Given the description of an element on the screen output the (x, y) to click on. 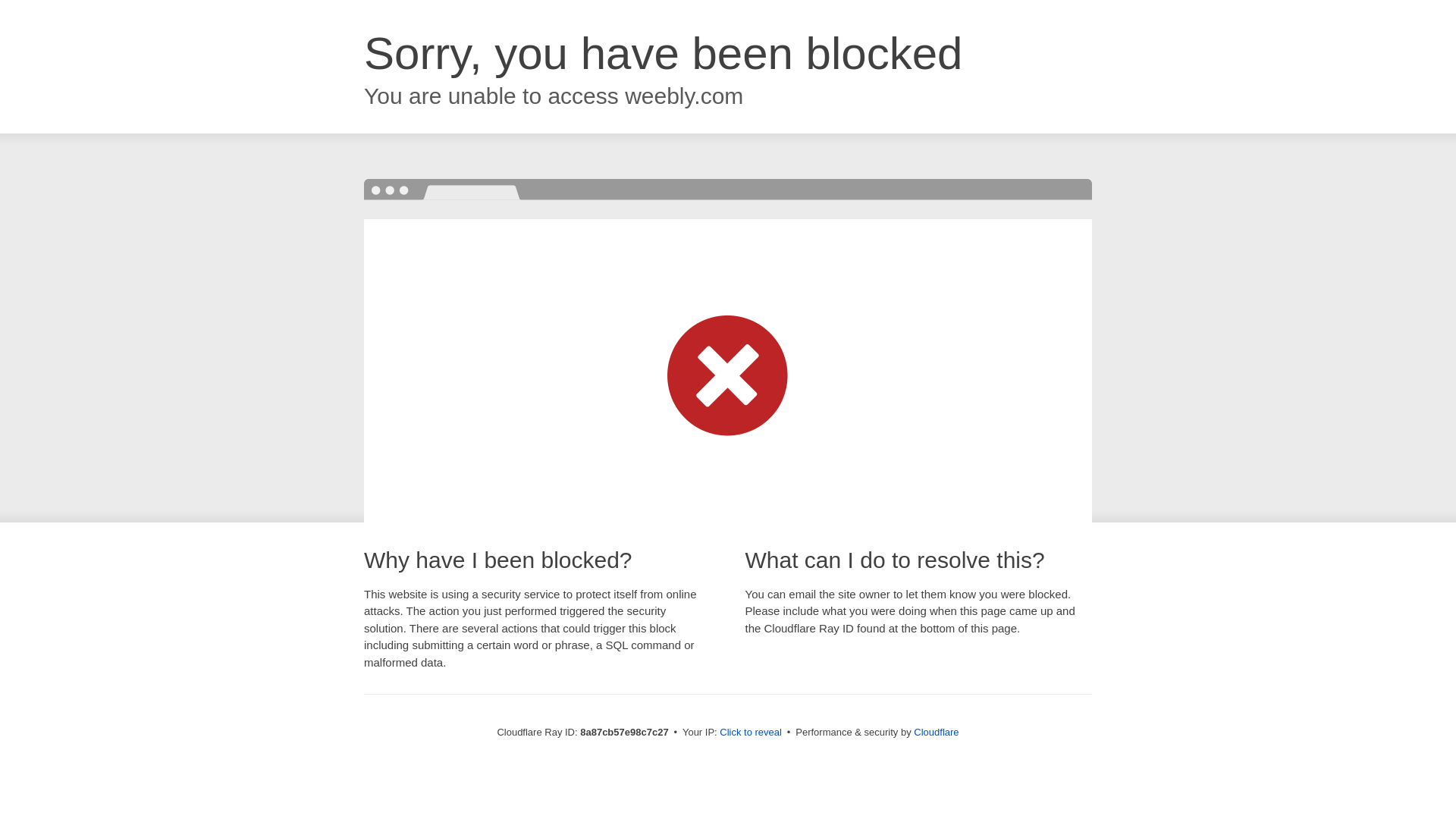
Cloudflare (936, 731)
Click to reveal (750, 732)
